Given the description of an element on the screen output the (x, y) to click on. 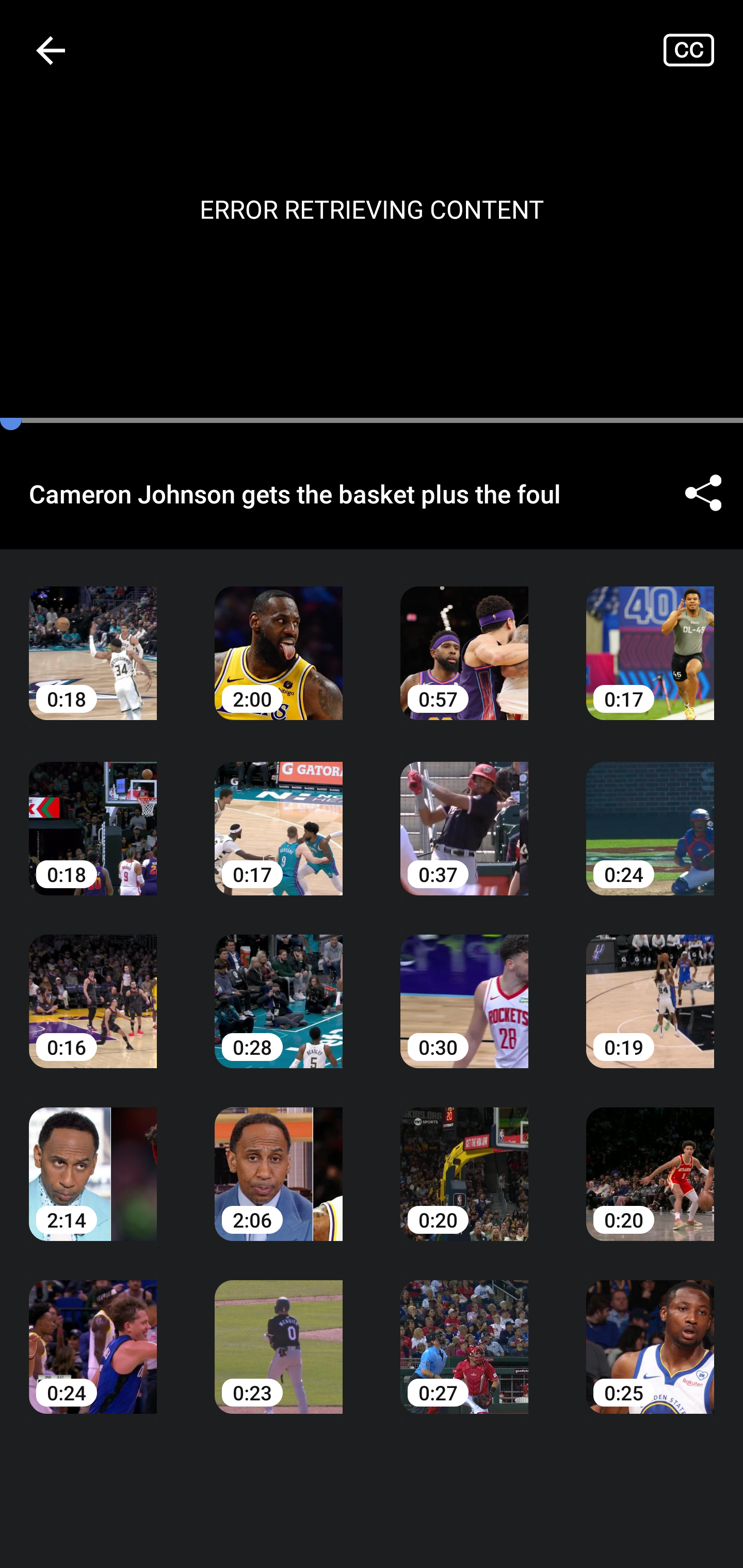
Navigate up (50, 50)
Closed captions  (703, 49)
Share © (703, 493)
0:18 (92, 637)
2:00 (278, 637)
0:57 (464, 637)
0:17 (650, 637)
0:18 (92, 813)
0:17 (278, 813)
0:37 (464, 813)
0:24 (650, 813)
0:16 (92, 987)
0:28 (278, 987)
0:30 (464, 987)
0:19 (650, 987)
2:14 (92, 1160)
2:06 (278, 1160)
0:20 (464, 1160)
0:20 (650, 1160)
0:24 (92, 1332)
0:23 (278, 1332)
0:27 (464, 1332)
0:25 (650, 1332)
